Given the description of an element on the screen output the (x, y) to click on. 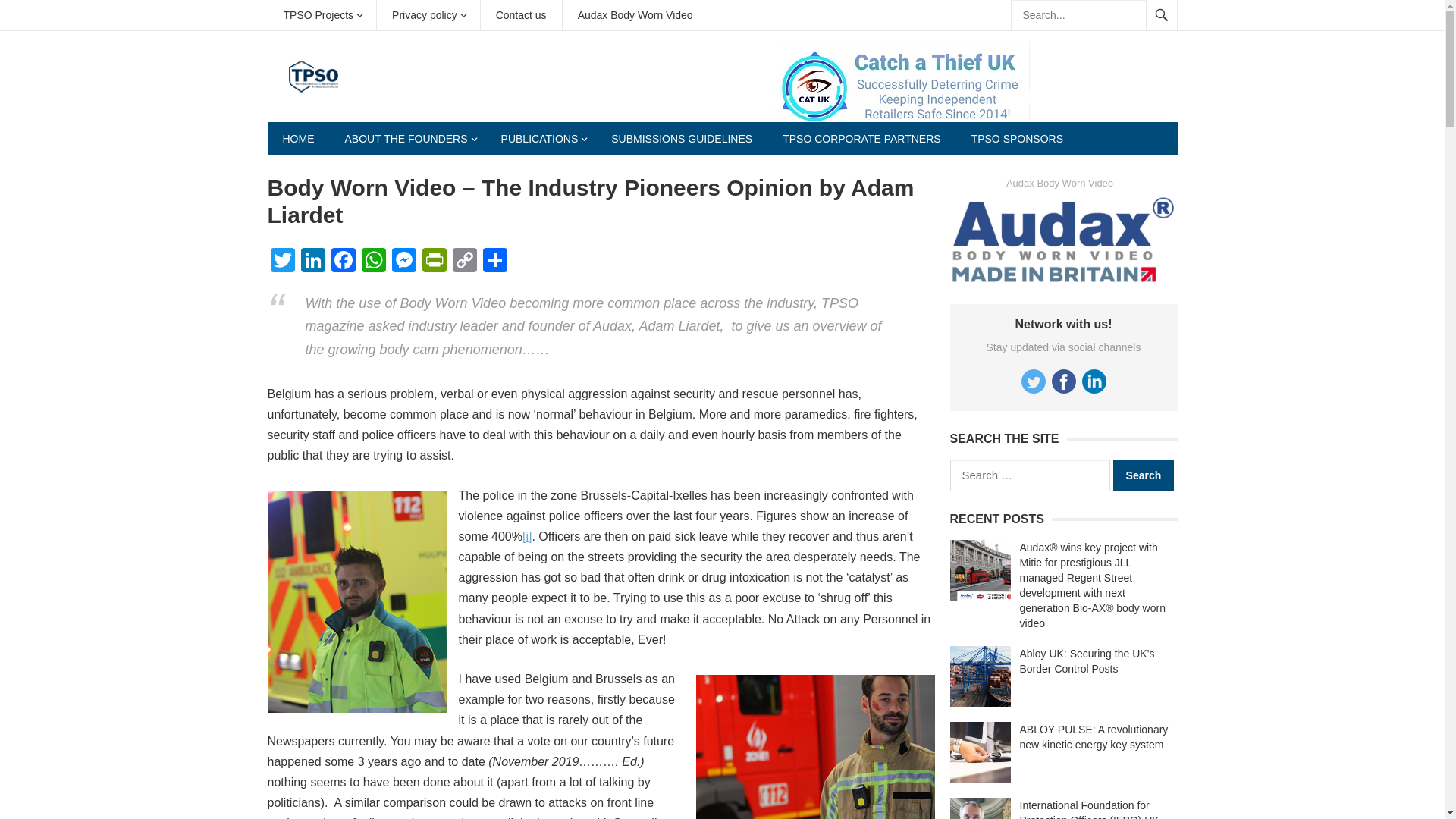
TPSO Projects (322, 15)
Search (1143, 475)
WhatsApp (373, 262)
TPSO SPONSORS (1017, 138)
PrintFriendly (433, 262)
Facebook (342, 262)
Facebook (342, 262)
PrintFriendly (433, 262)
Privacy policy (428, 15)
Audax Body Worn Video (634, 15)
Messenger (403, 262)
Contact us (521, 15)
Messenger (403, 262)
HOME (297, 138)
PUBLICATIONS (541, 138)
